Given the description of an element on the screen output the (x, y) to click on. 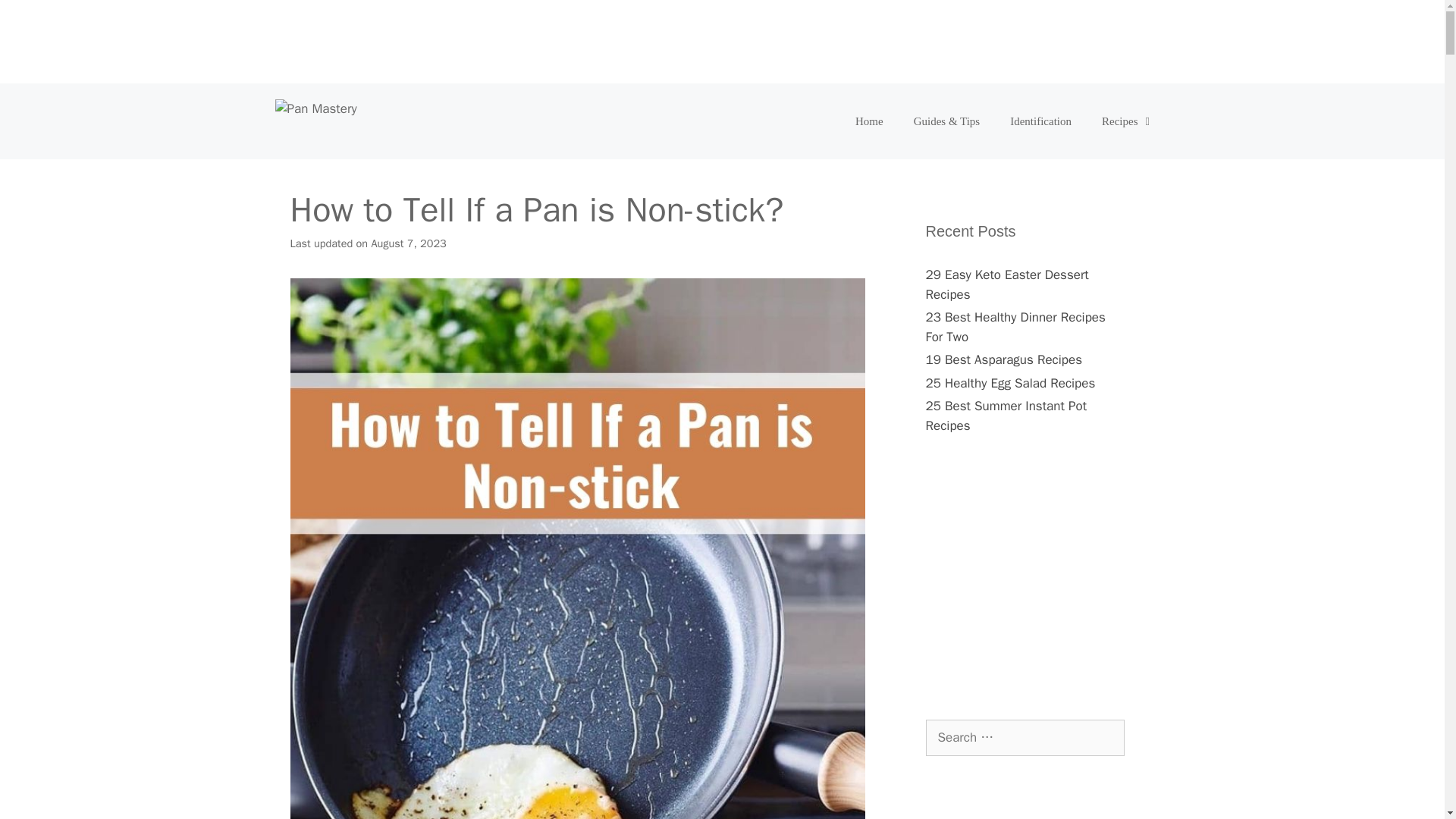
Recipes (1127, 121)
Identification (1040, 121)
Home (869, 121)
